Given the description of an element on the screen output the (x, y) to click on. 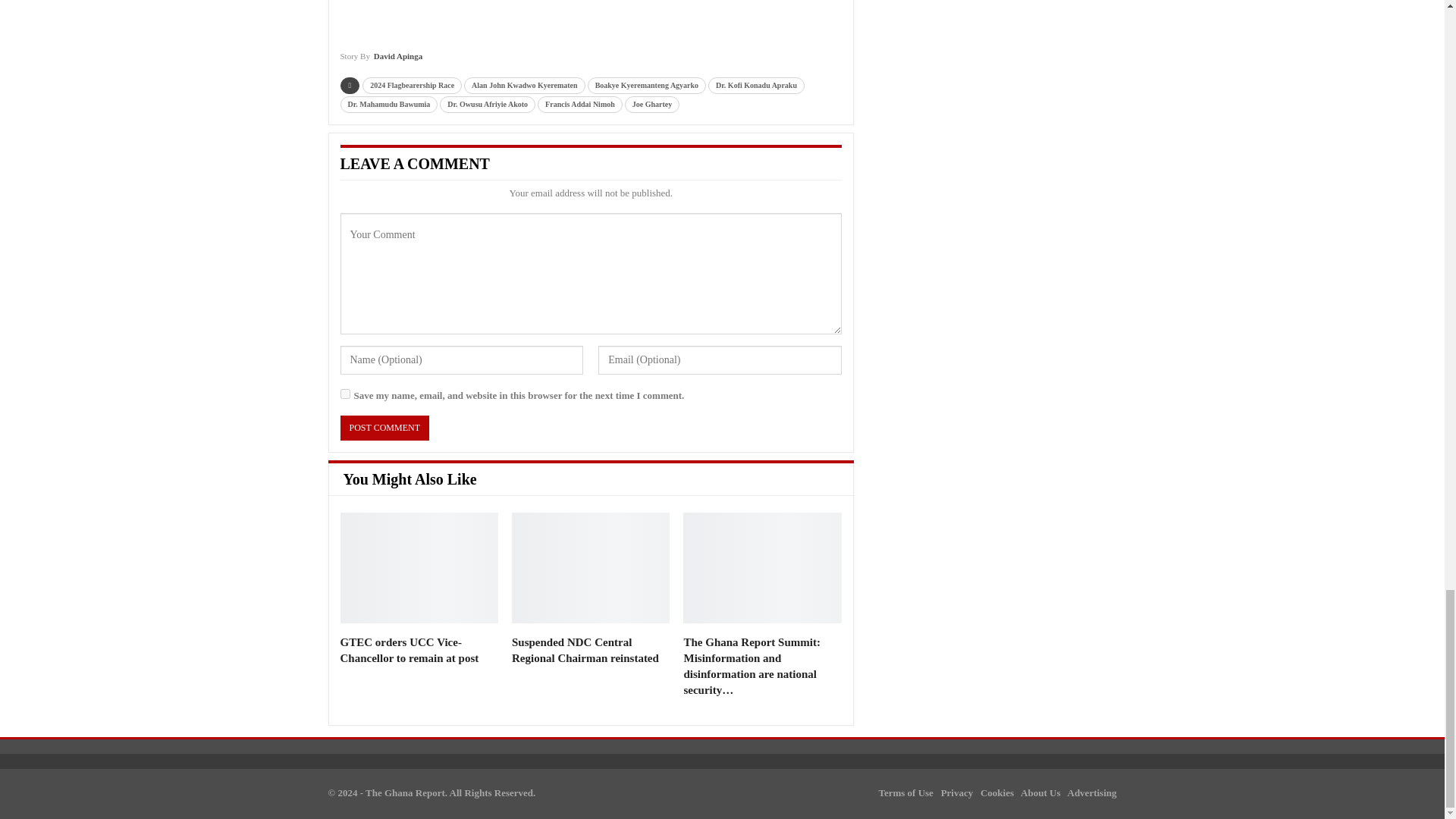
Advertisement (601, 10)
Joe Ghartey (651, 104)
Dr. Mahamudu Bawumia (388, 104)
Post Comment (383, 427)
Alan John Kwadwo Kyerematen (524, 85)
GTEC orders UCC Vice-Chancellor to remain at post (418, 567)
Suspended NDC Central Regional Chairman reinstated (585, 650)
Browse Author Articles (380, 60)
Francis Addai Nimoh (580, 104)
Dr. Owusu Afriyie Akoto (487, 104)
